Given the description of an element on the screen output the (x, y) to click on. 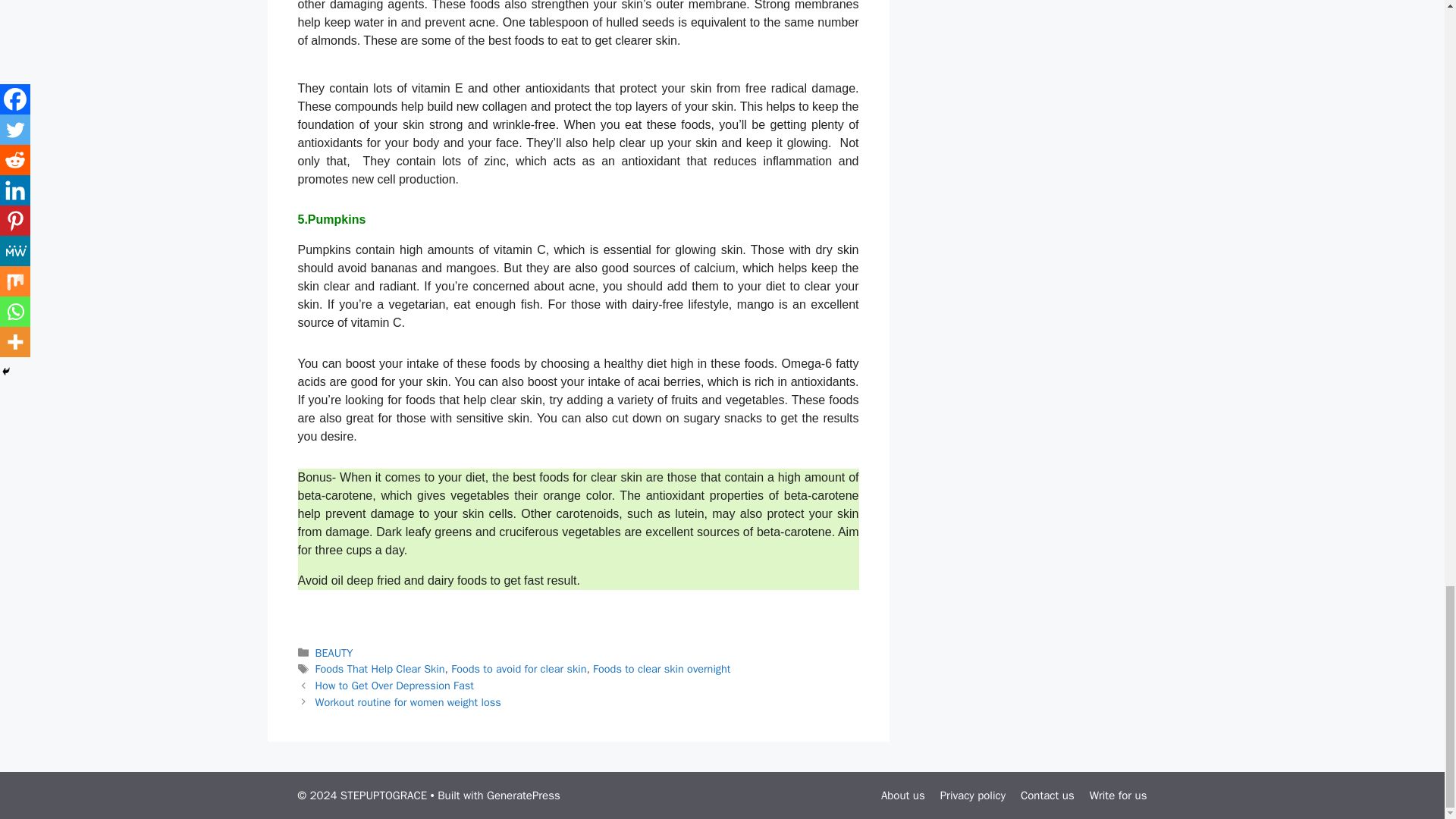
Foods to avoid for clear skin (518, 668)
Workout routine for women weight loss (407, 702)
Foods That Help Clear Skin (380, 668)
Foods to clear skin overnight (661, 668)
How to Get Over Depression Fast (394, 685)
BEAUTY (334, 653)
